Given the description of an element on the screen output the (x, y) to click on. 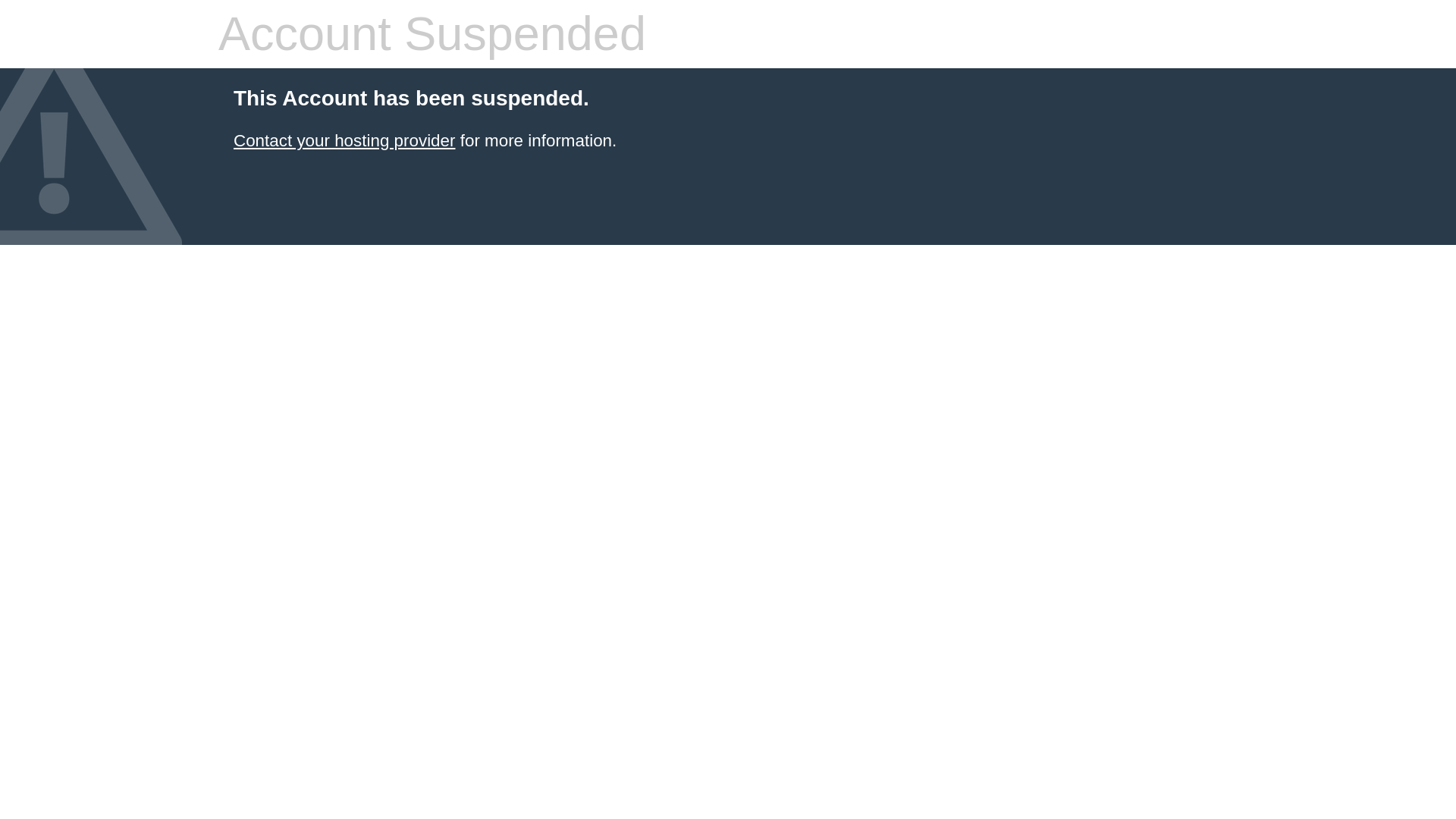
Contact your hosting provider (343, 140)
